Given the description of an element on the screen output the (x, y) to click on. 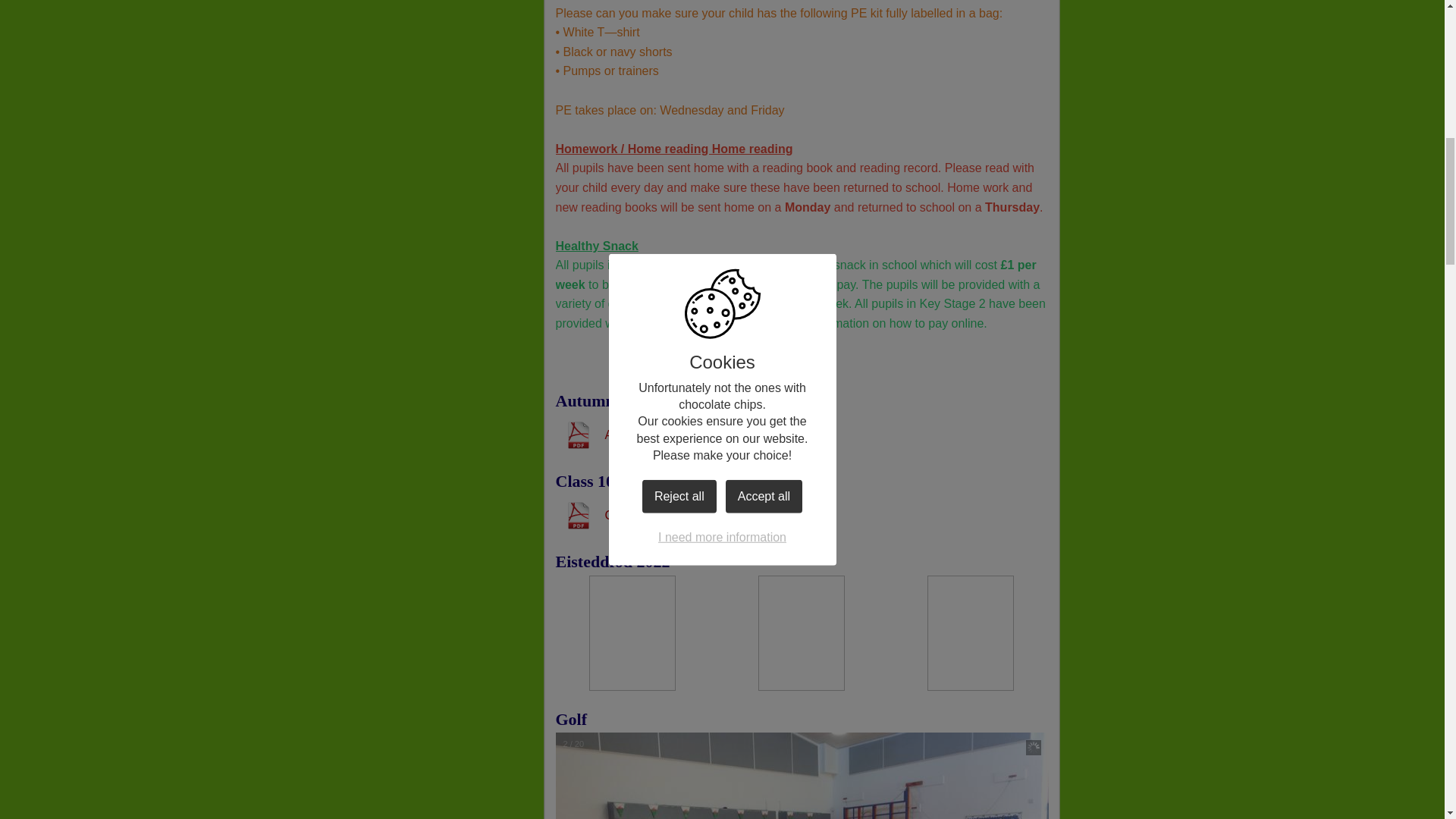
Class 10 Mother's Day.pdf (649, 515)
Autumn Newsletter 56.pdf (649, 434)
View large version of image (970, 632)
View large version of image (802, 632)
View large version of image (631, 632)
